Given the description of an element on the screen output the (x, y) to click on. 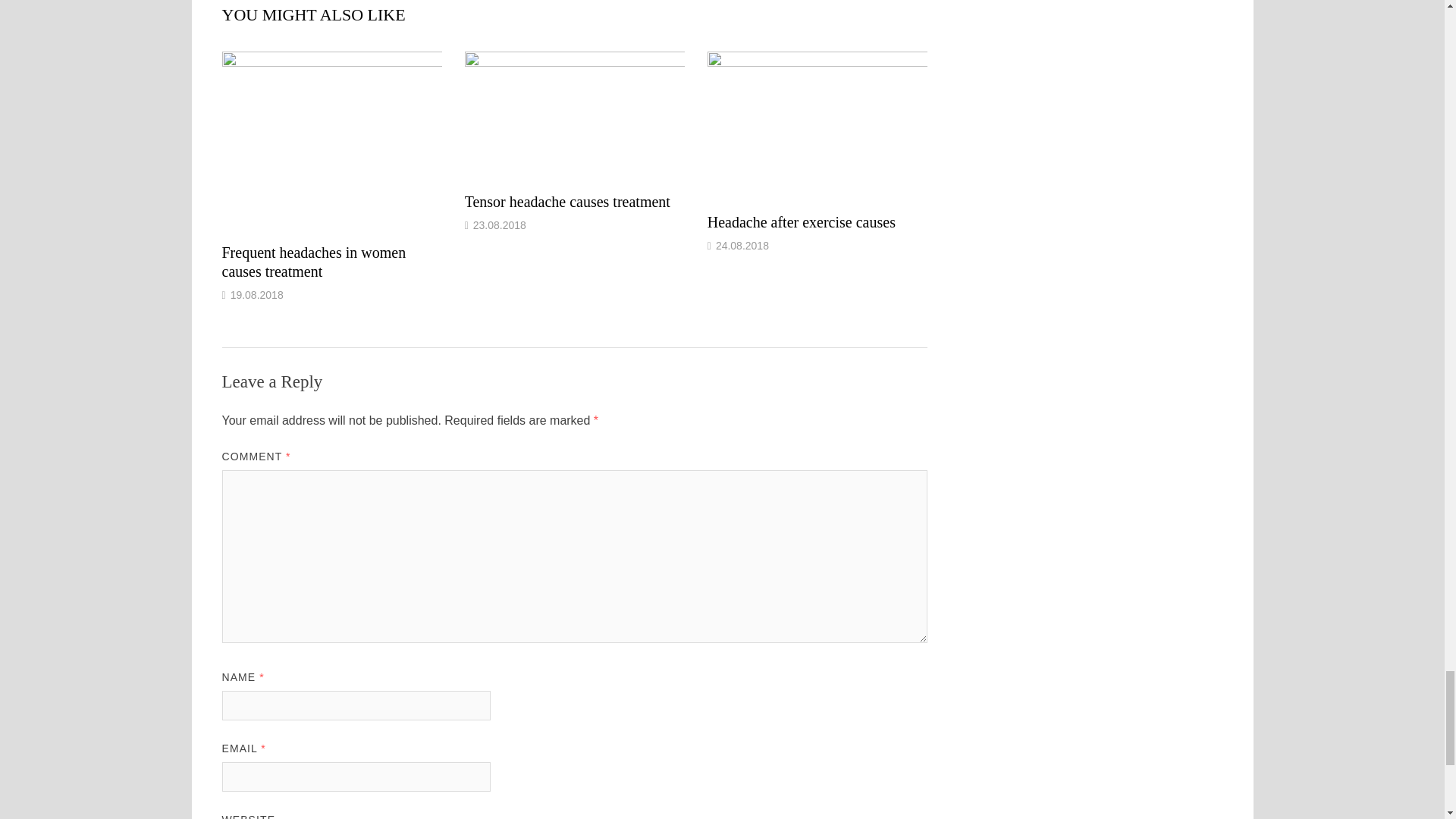
Tensor headache causes treatment (566, 201)
19.08.2018 (256, 295)
Tensor headache causes treatment (566, 201)
Frequent headaches in women causes treatment (313, 262)
Frequent headaches in women causes treatment (313, 262)
Headache after exercise causes (801, 221)
